Given the description of an element on the screen output the (x, y) to click on. 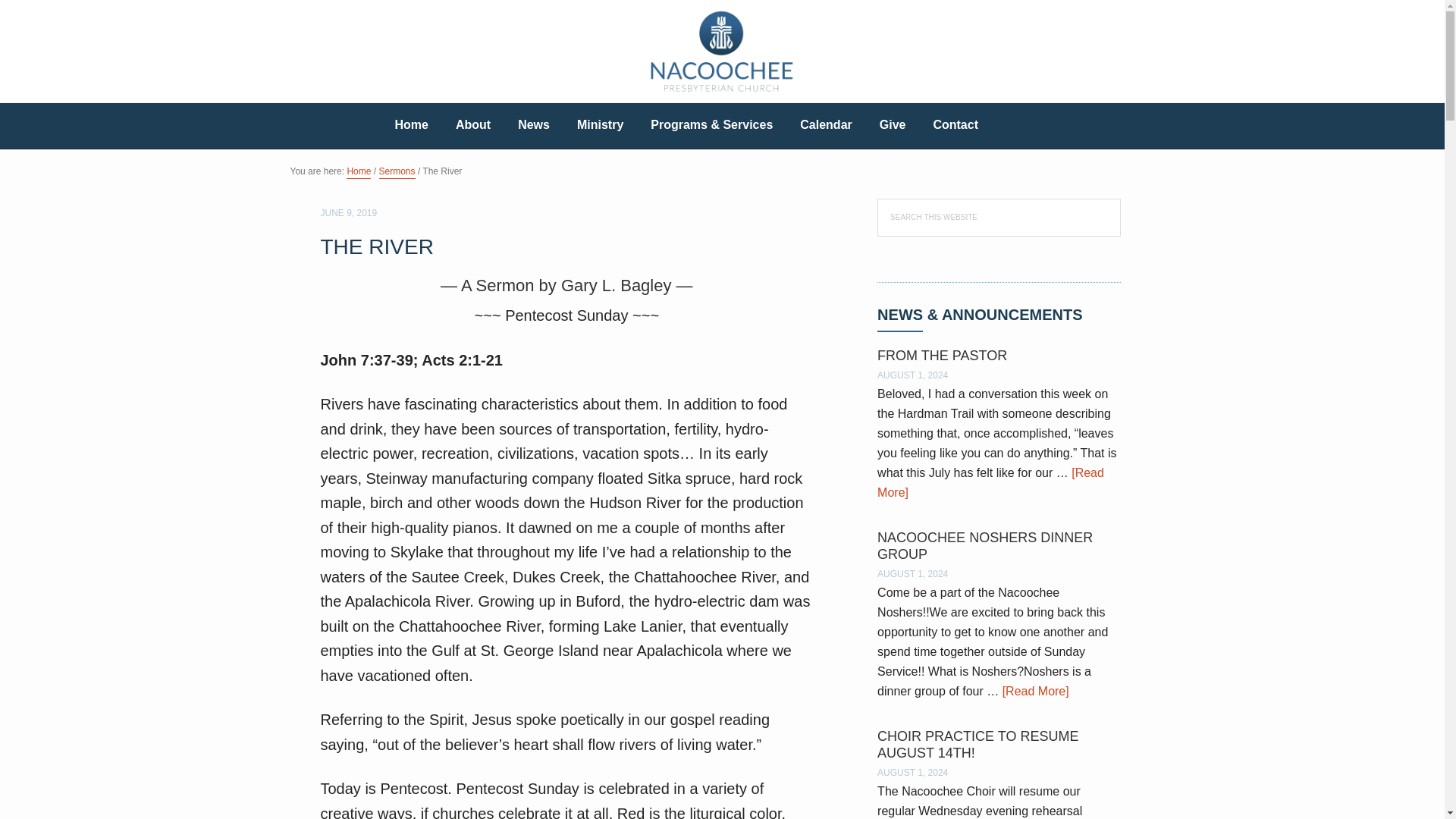
About (472, 125)
News (533, 125)
Contact (954, 125)
Ministry (600, 125)
Give (893, 125)
Home (358, 172)
Home (410, 125)
Calendar (825, 125)
Sermons (396, 172)
